Given the description of an element on the screen output the (x, y) to click on. 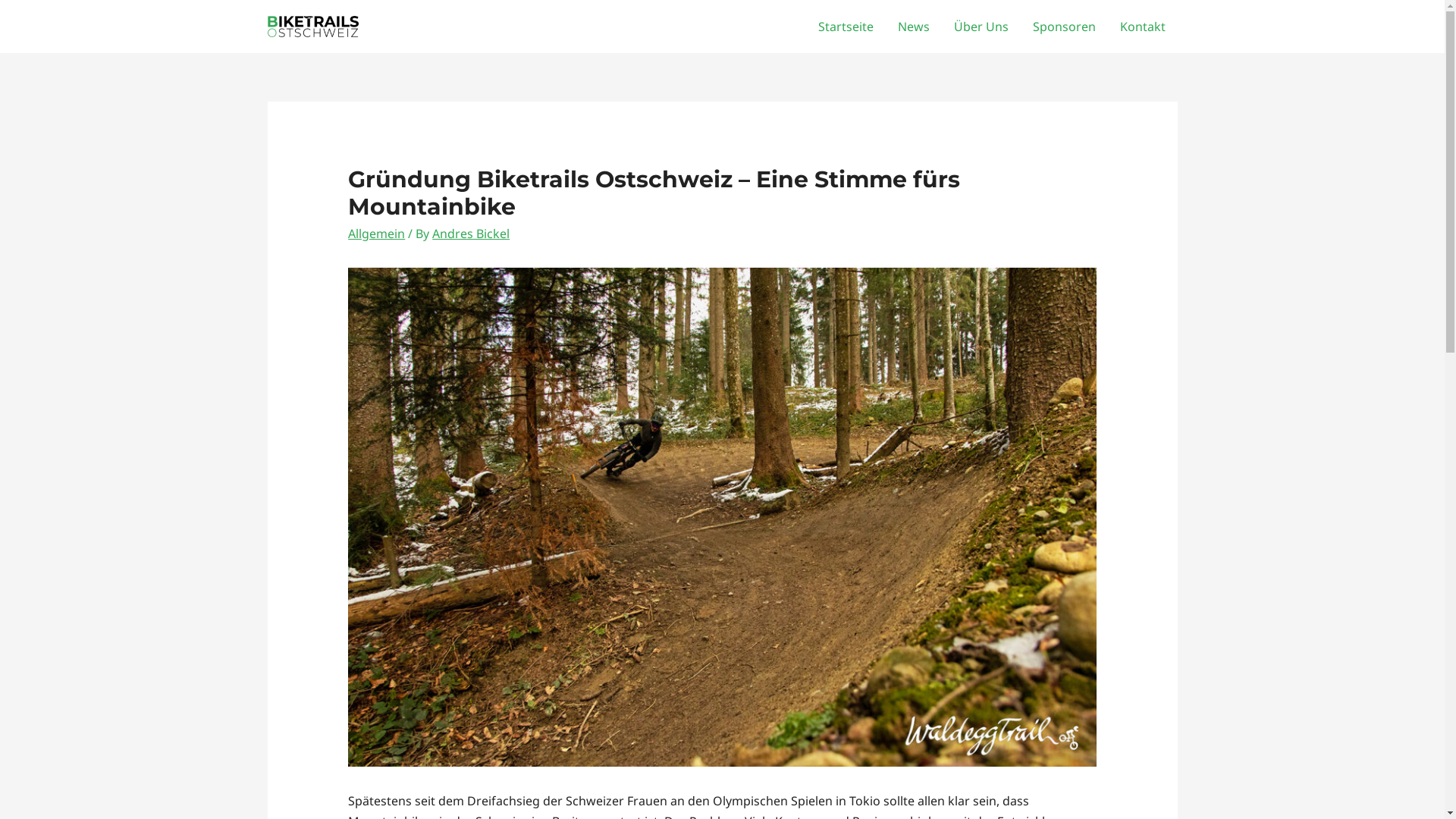
Allgemein Element type: text (376, 233)
Startseite Element type: text (844, 26)
Andres Bickel Element type: text (470, 233)
Sponsoren Element type: text (1063, 26)
News Element type: text (913, 26)
Kontakt Element type: text (1141, 26)
